Given the description of an element on the screen output the (x, y) to click on. 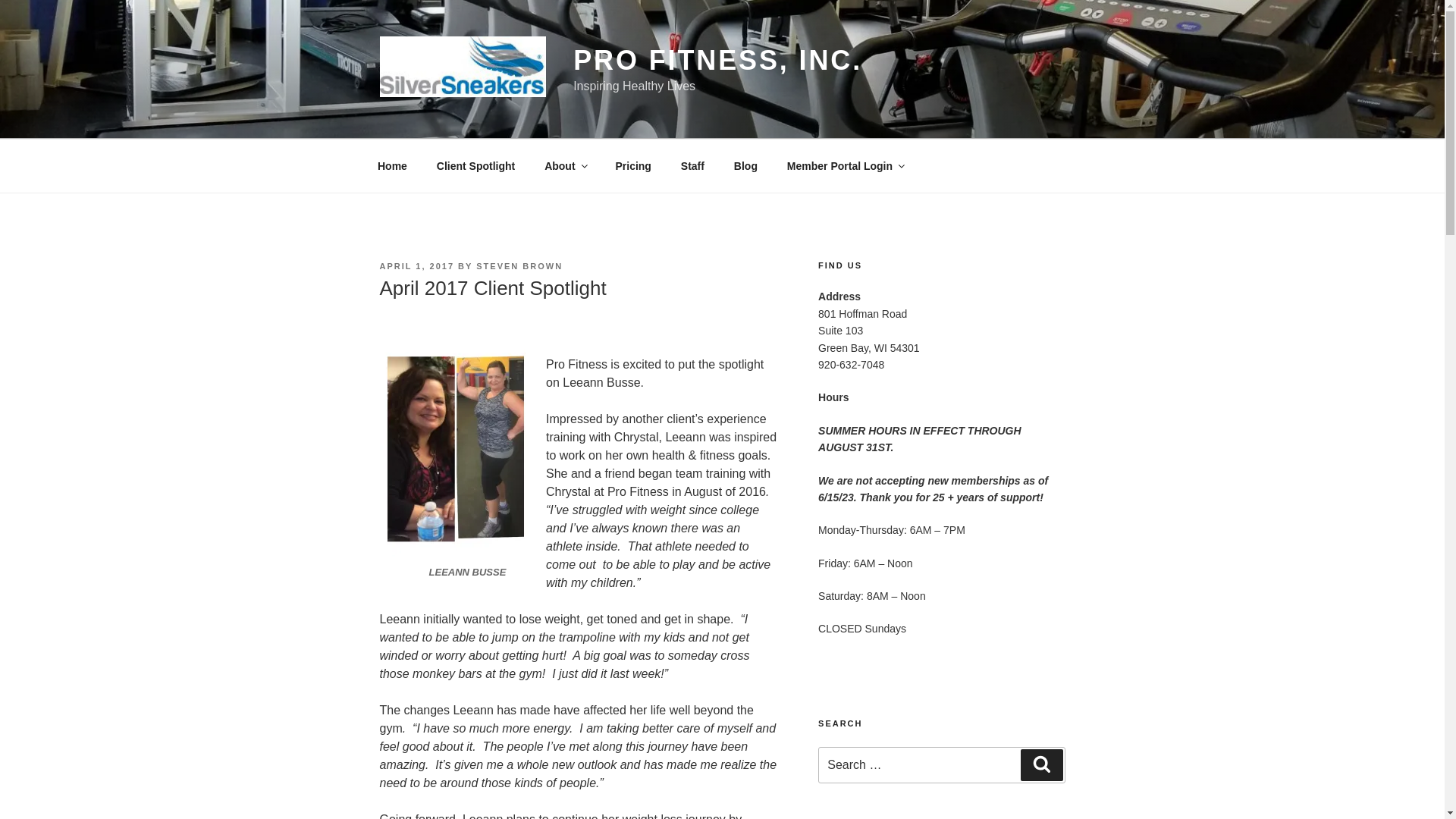
STEVEN BROWN (519, 266)
Member Portal Login (844, 165)
Home (392, 165)
Blog (745, 165)
Pricing (632, 165)
Search (1041, 765)
APRIL 1, 2017 (416, 266)
About (564, 165)
PRO FITNESS, INC. (717, 60)
Client Spotlight (475, 165)
Staff (691, 165)
